Given the description of an element on the screen output the (x, y) to click on. 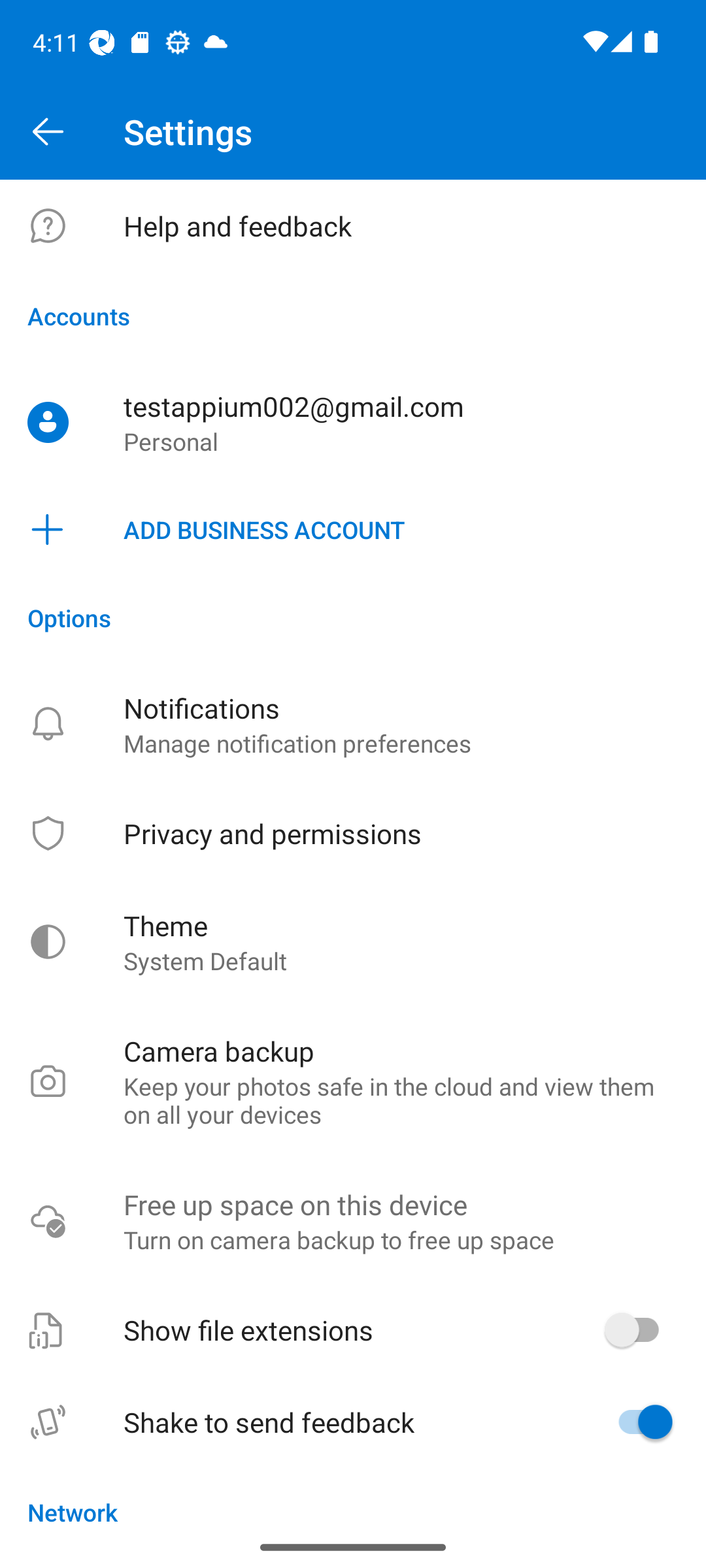
Navigate up Settings (353, 131)
Navigate up (48, 131)
Help and feedback (353, 225)
Accounts (353, 315)
testappium002@gmail.com Personal (353, 423)
ADD BUSINESS ACCOUNT (353, 529)
Options (353, 617)
Notifications Manage notification preferences (353, 724)
Privacy and permissions (353, 833)
Theme System Default (353, 942)
Show file extensions (353, 1330)
Shake to send feedback (353, 1421)
Network (353, 1497)
